Given the description of an element on the screen output the (x, y) to click on. 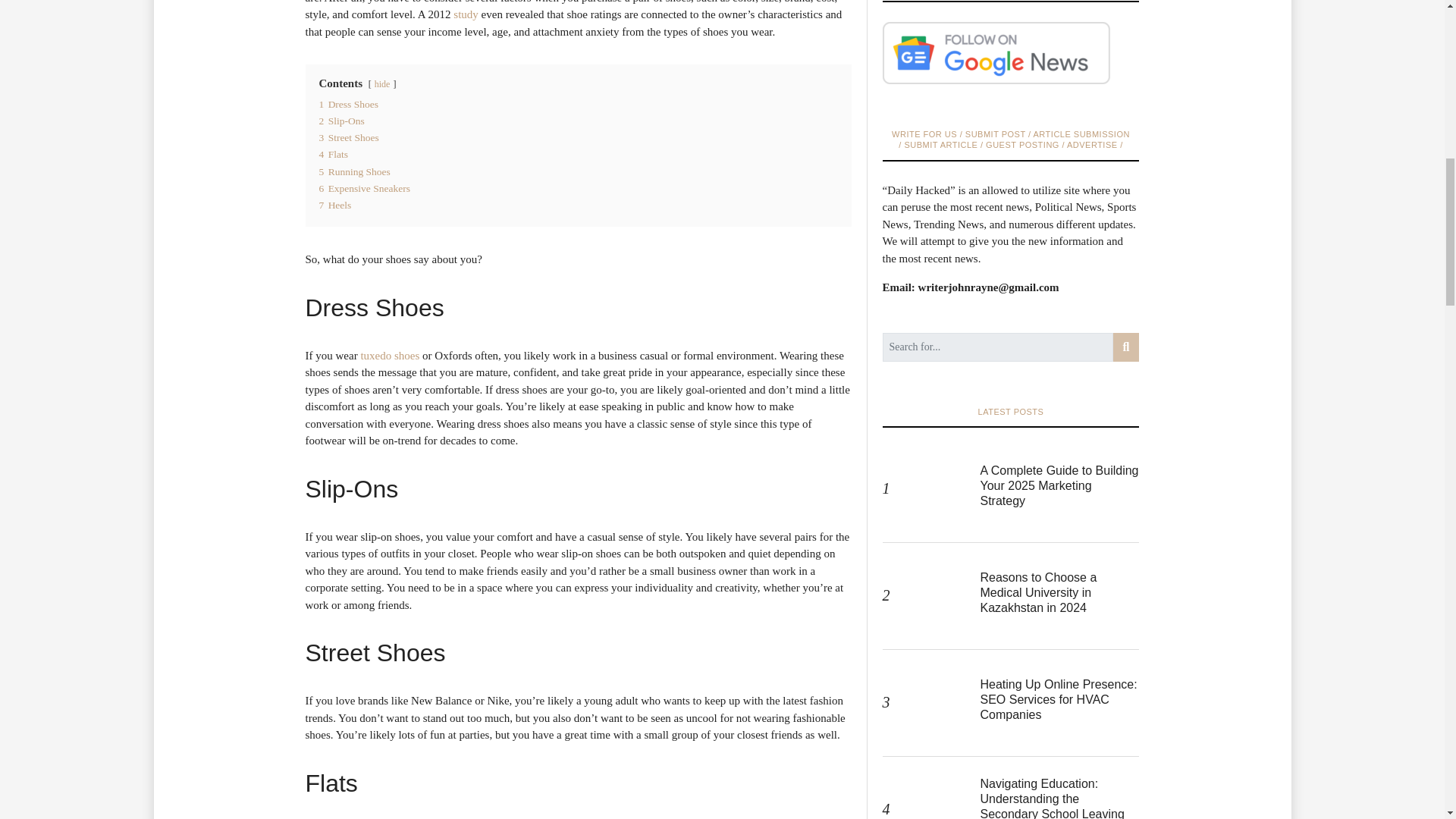
4 Flats (332, 153)
1 Dress Shoes (348, 103)
6 Expensive Sneakers (363, 188)
hide (382, 83)
study (465, 14)
2 Slip-Ons (341, 120)
7 Heels (334, 204)
3 Street Shoes (348, 137)
5 Running Shoes (354, 170)
tuxedo shoes (389, 355)
